Given the description of an element on the screen output the (x, y) to click on. 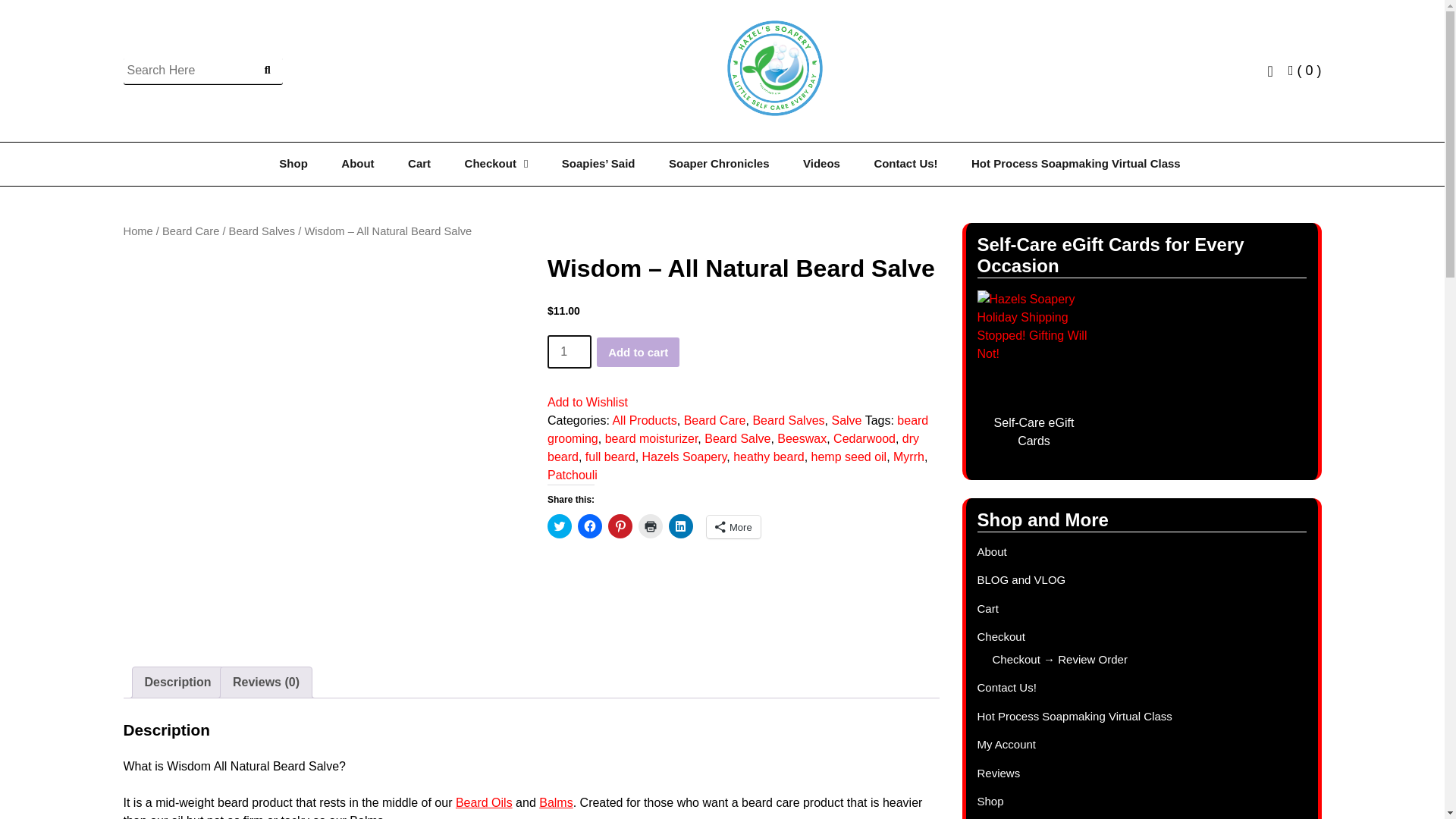
Beard Salves (261, 230)
Checkout (496, 163)
Videos (821, 163)
Add to cart (637, 351)
Beard Salve (737, 438)
View Shopping Cart (1305, 70)
Contact Us! (905, 163)
Add to Wishlist (587, 401)
Beard Salves (788, 420)
Shop (293, 163)
Click to print (650, 526)
Beard Care (714, 420)
heathy beard (768, 456)
Salve (846, 420)
Cedarwood (863, 438)
